Given the description of an element on the screen output the (x, y) to click on. 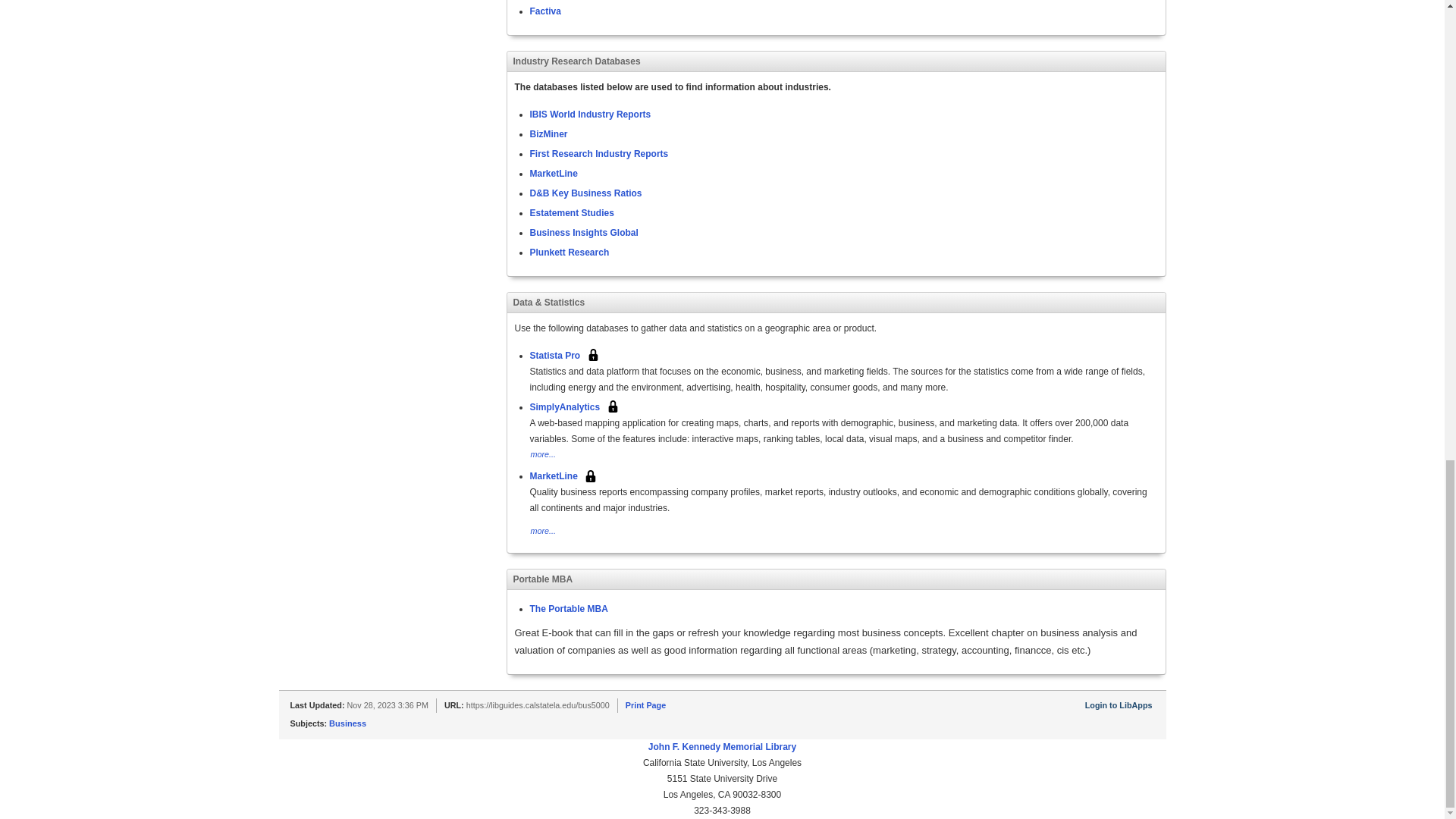
Estatement Studies (570, 212)
Business Insights Global (583, 231)
MarketLine (552, 172)
SimplyAnalytics (564, 406)
First Research Industry Reports (598, 153)
Plunkett Research (568, 251)
Factiva (544, 9)
Statista Pro (554, 354)
more... (542, 453)
BizMiner (548, 132)
IBIS World Industry Reports (589, 113)
